Given the description of an element on the screen output the (x, y) to click on. 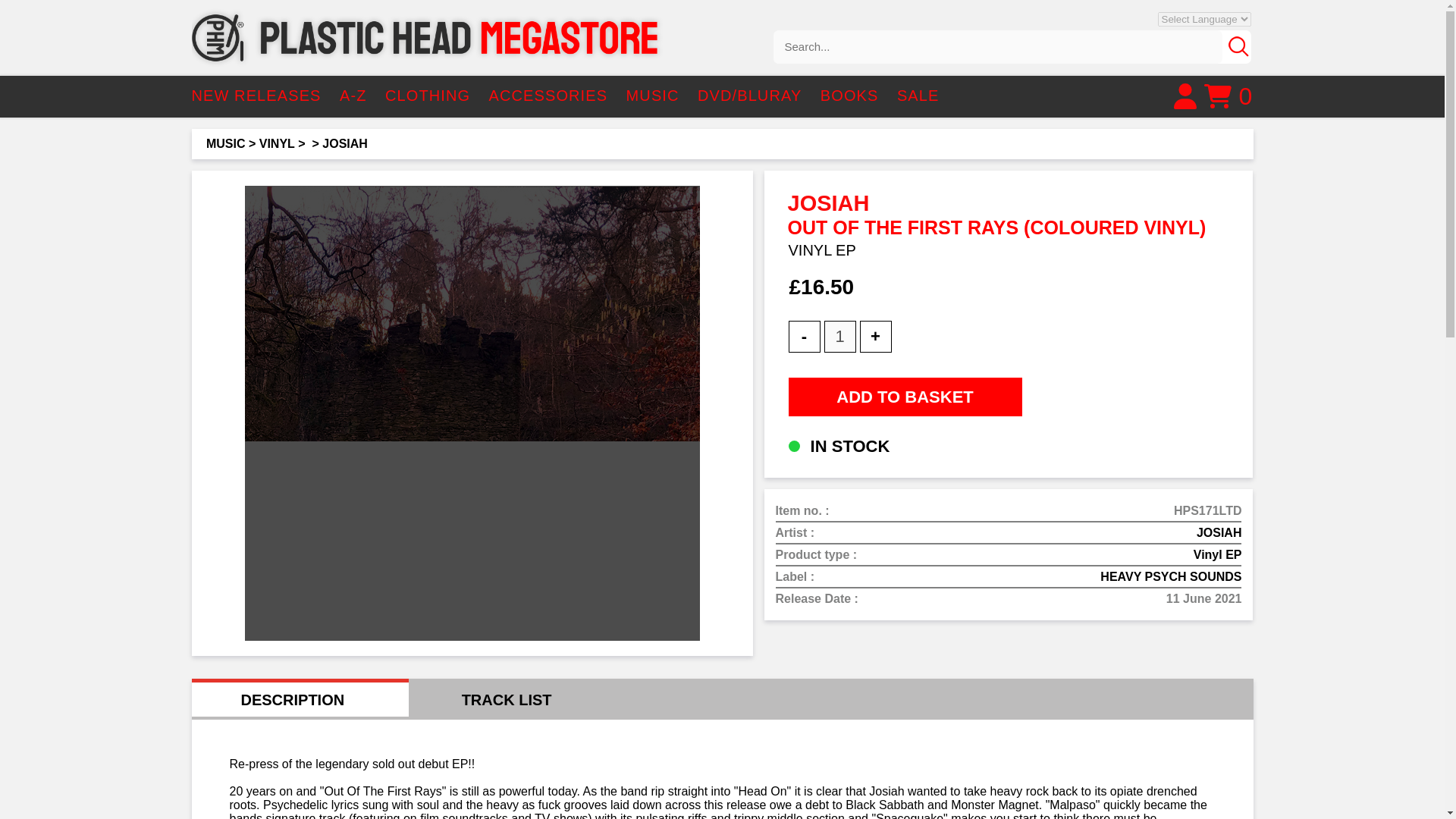
1 (840, 336)
ADD TO BASKET (905, 396)
